Given the description of an element on the screen output the (x, y) to click on. 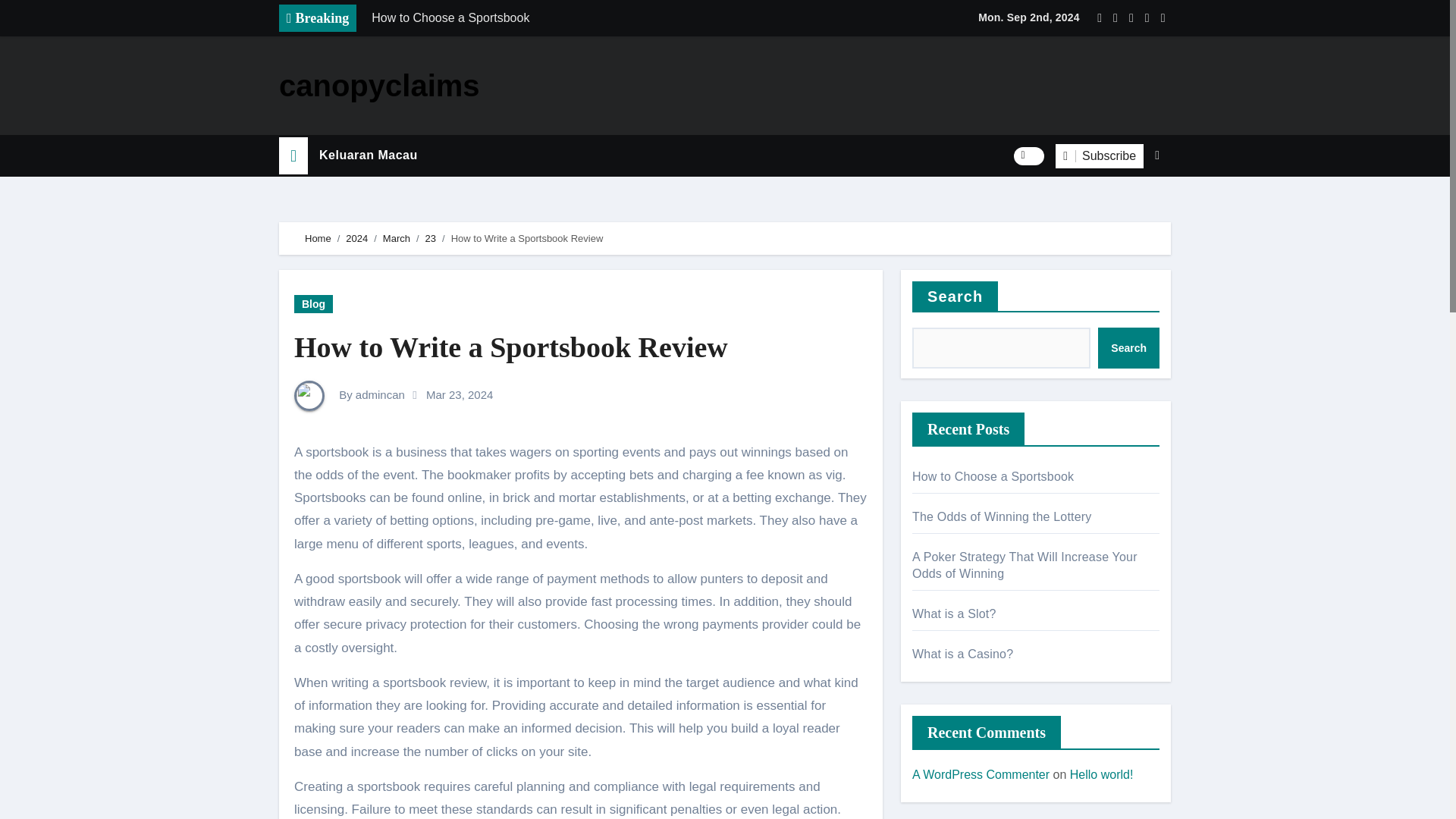
Subscribe (1098, 156)
March (396, 238)
Keluaran Macau (368, 155)
Permalink to: How to Write a Sportsbook Review (511, 347)
canopyclaims (379, 85)
2024 (357, 238)
By admincan (349, 394)
Home (317, 238)
Keluaran Macau (368, 155)
How to Choose a Sportsbook (574, 18)
